Given the description of an element on the screen output the (x, y) to click on. 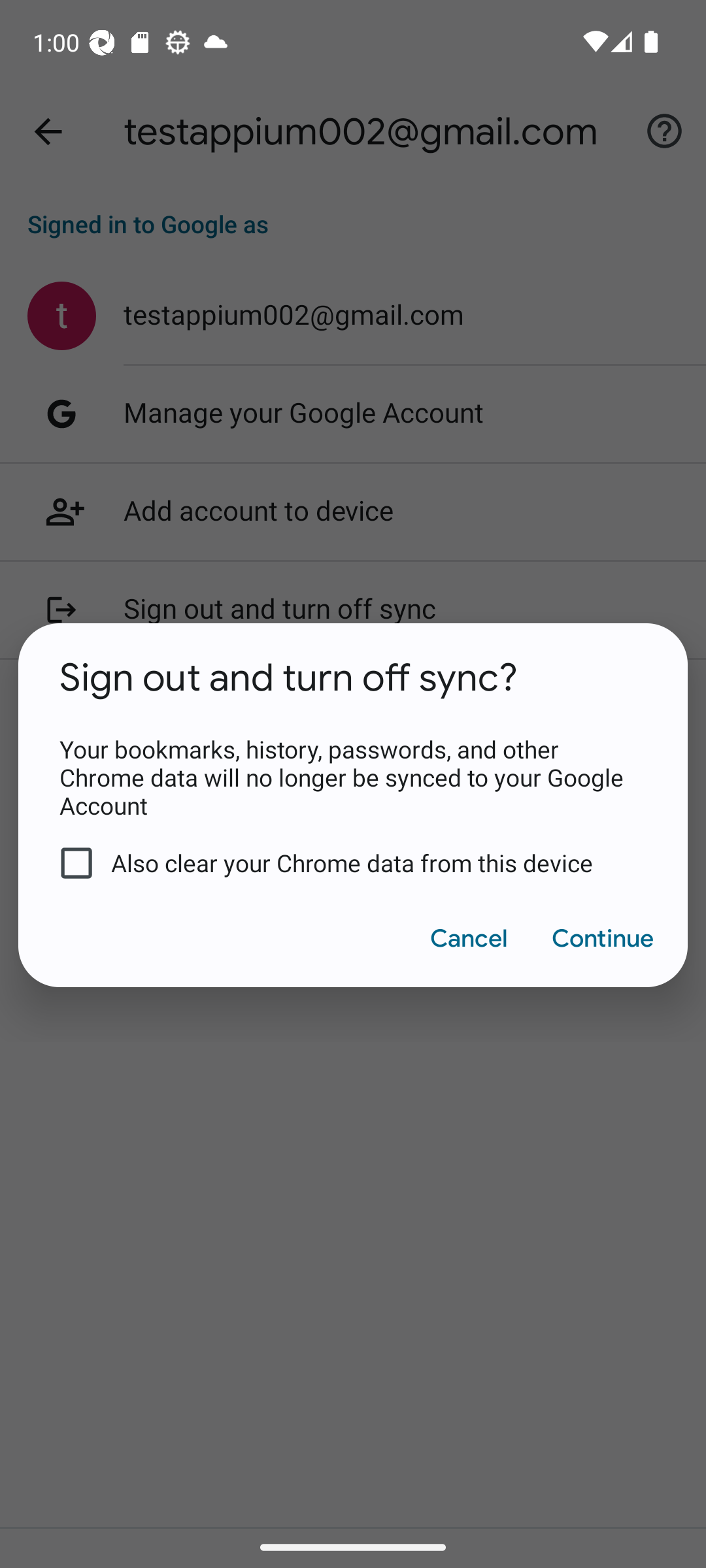
Also clear your Chrome data from this device (340, 862)
Cancel (468, 938)
Continue (601, 938)
